Given the description of an element on the screen output the (x, y) to click on. 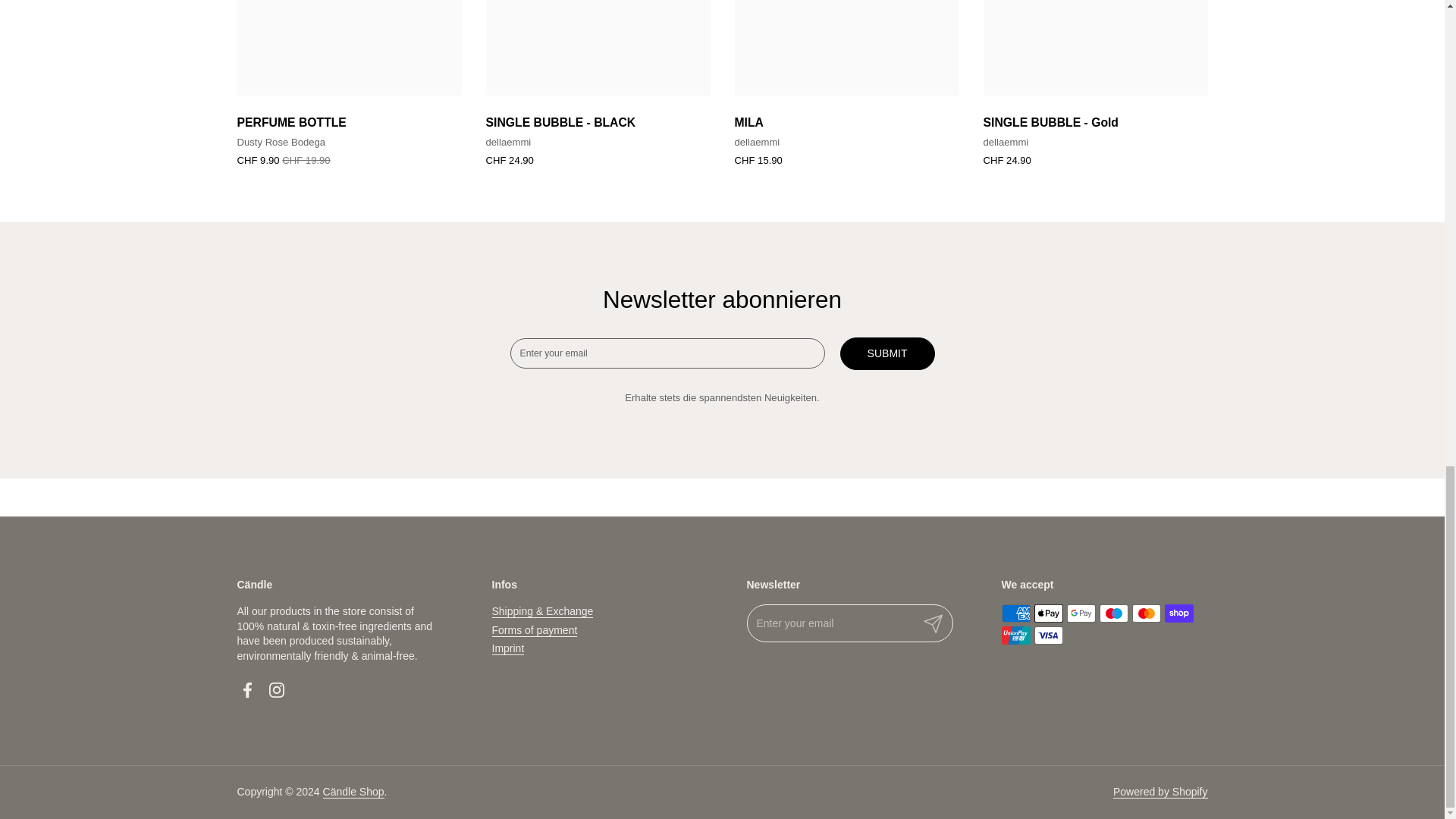
SINGLE BUBBLE - BLACK (597, 119)
MILA (845, 119)
SINGLE BUBBLE - Gold (1094, 119)
PERFUME BOTTLE (348, 119)
